Given the description of an element on the screen output the (x, y) to click on. 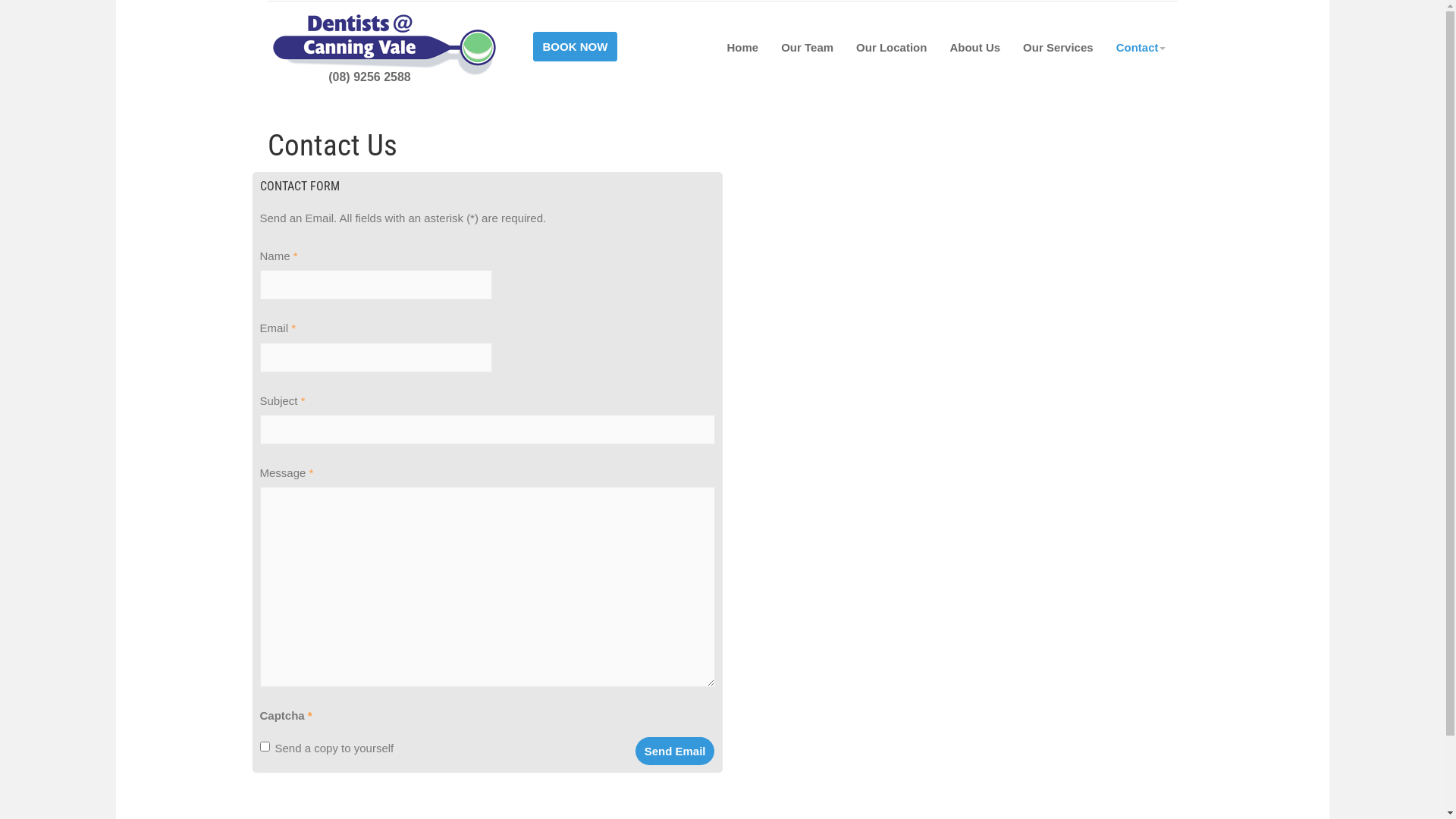
Home Element type: text (742, 46)
Our Location Element type: text (891, 46)
BOOK NOW Element type: text (574, 43)
About Us Element type: text (974, 46)
Our Services Element type: text (1057, 46)
Our Team Element type: text (806, 46)
Send Email Element type: text (675, 751)
Contact Element type: text (1140, 46)
